Given the description of an element on the screen output the (x, y) to click on. 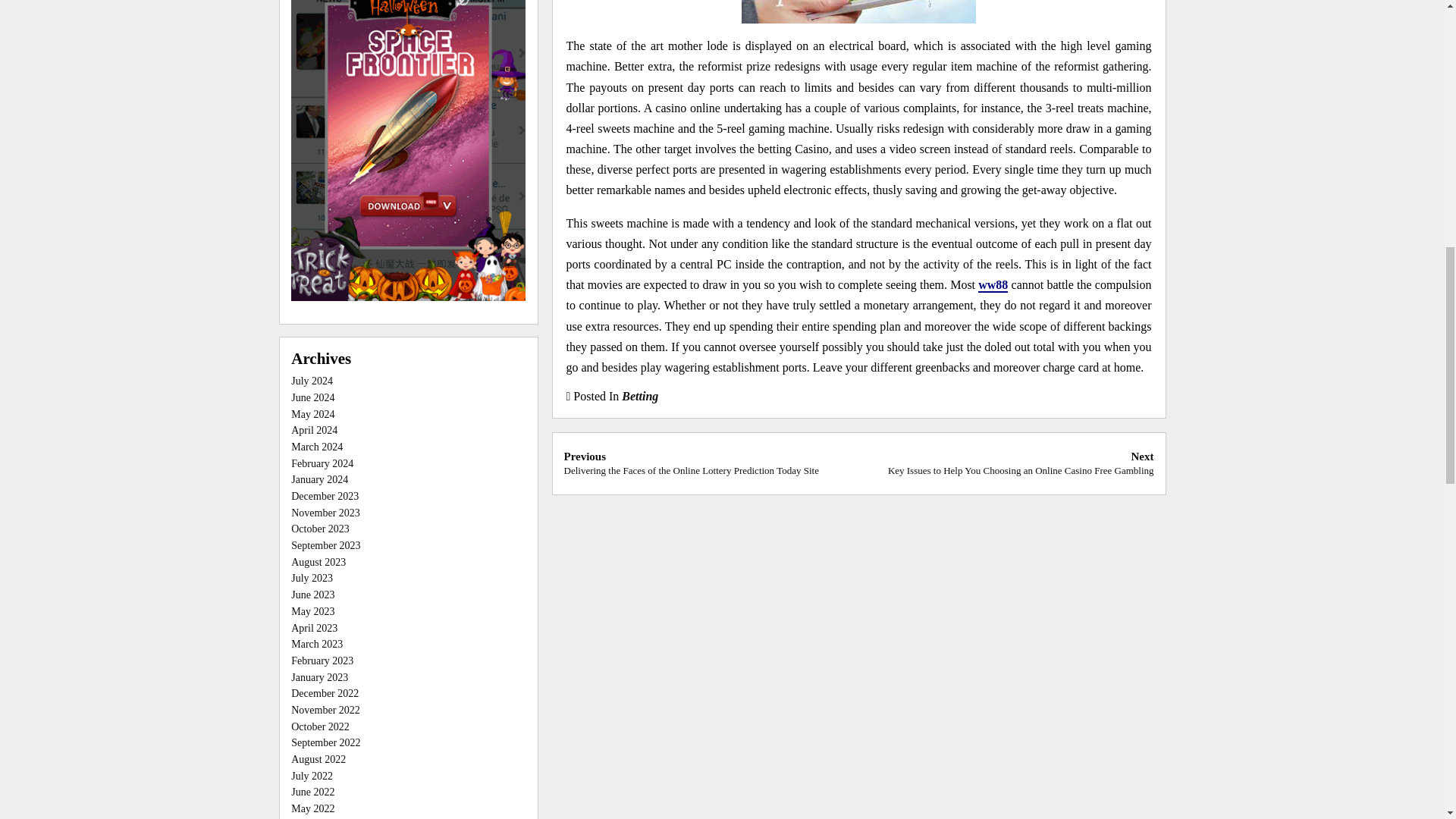
September 2023 (325, 545)
ww88 (992, 285)
June 2024 (312, 397)
May 2024 (312, 414)
June 2023 (312, 594)
July 2023 (312, 577)
July 2024 (312, 380)
November 2023 (325, 512)
October 2023 (320, 528)
August 2023 (318, 562)
